Given the description of an element on the screen output the (x, y) to click on. 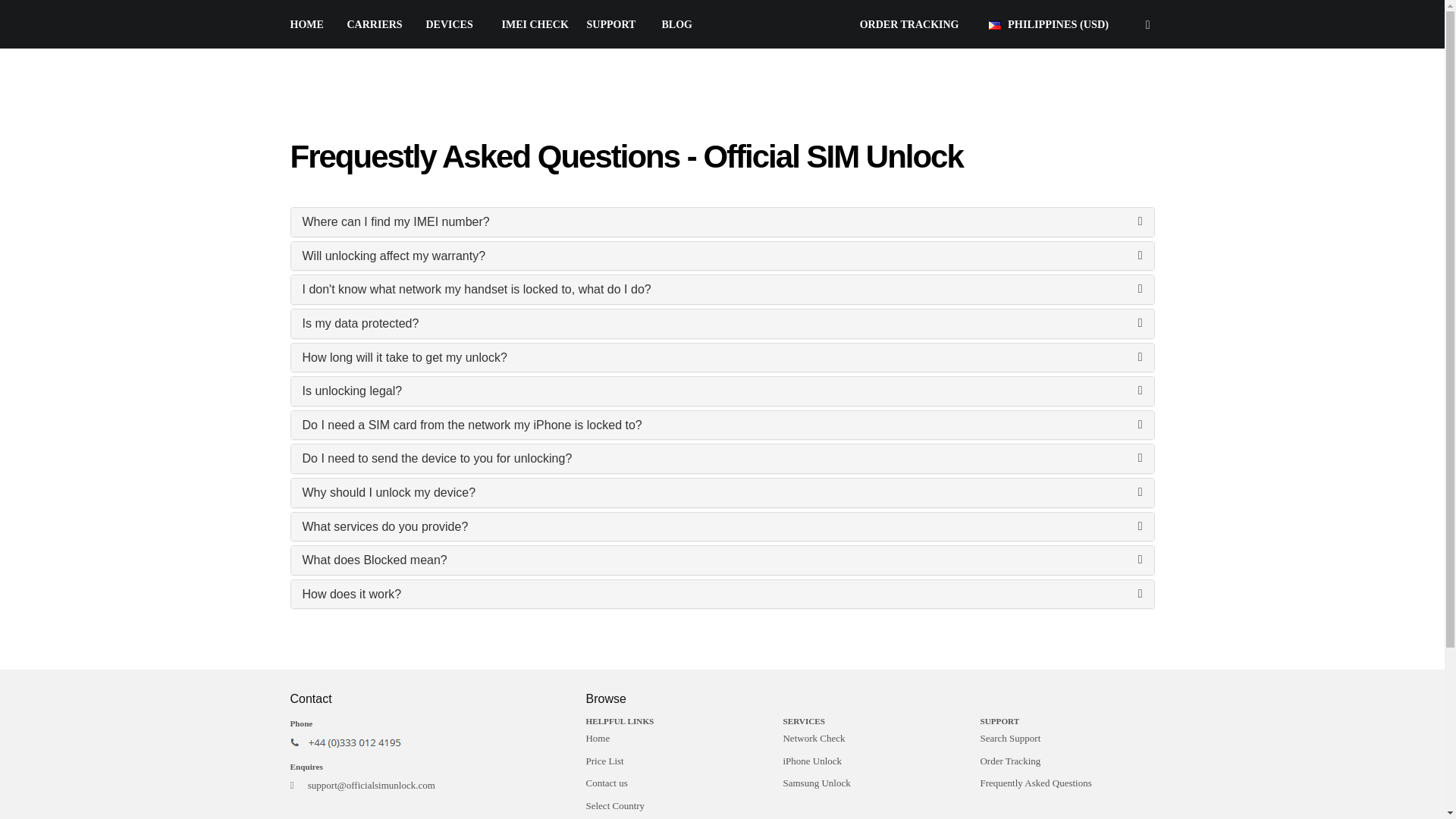
Why should I unlock my device? (388, 492)
Will unlocking affect my warranty? (392, 255)
Carriers (375, 24)
Network Check (869, 739)
IMEI CHECK (535, 24)
Where can I find my IMEI number? (395, 221)
Frequently Asked Questions (1066, 783)
Contact us (672, 783)
Unlock Samsung (869, 783)
